Given the description of an element on the screen output the (x, y) to click on. 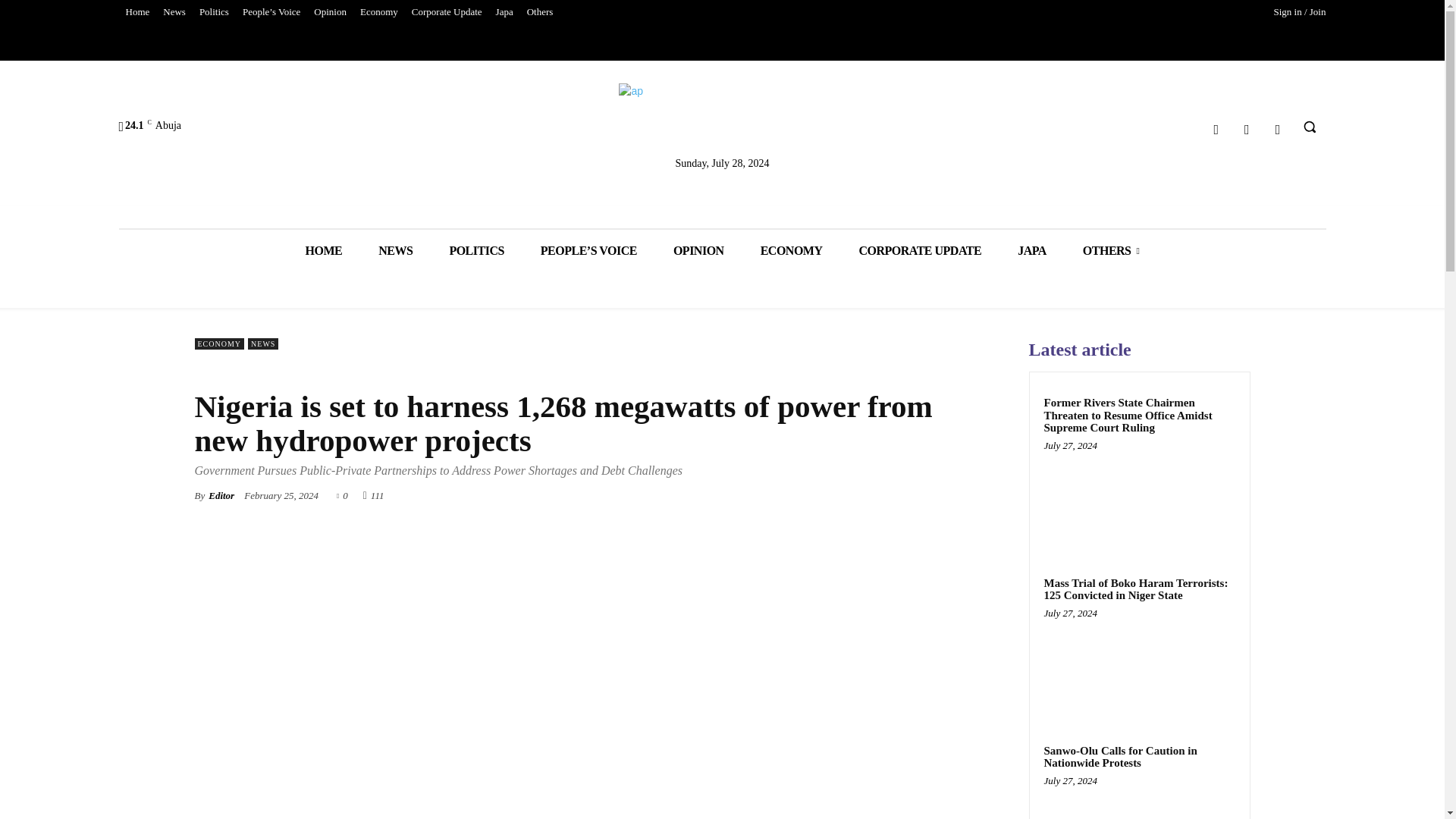
ap (721, 122)
Economy (378, 12)
NEWS (394, 250)
Politics (213, 12)
Twitter (1246, 129)
News (173, 12)
ap (721, 117)
HOME (323, 250)
Opinion (330, 12)
Corporate Update (446, 12)
Home (136, 12)
Instagram (1278, 129)
Others (539, 12)
.. (721, 122)
Japa (504, 12)
